Given the description of an element on the screen output the (x, y) to click on. 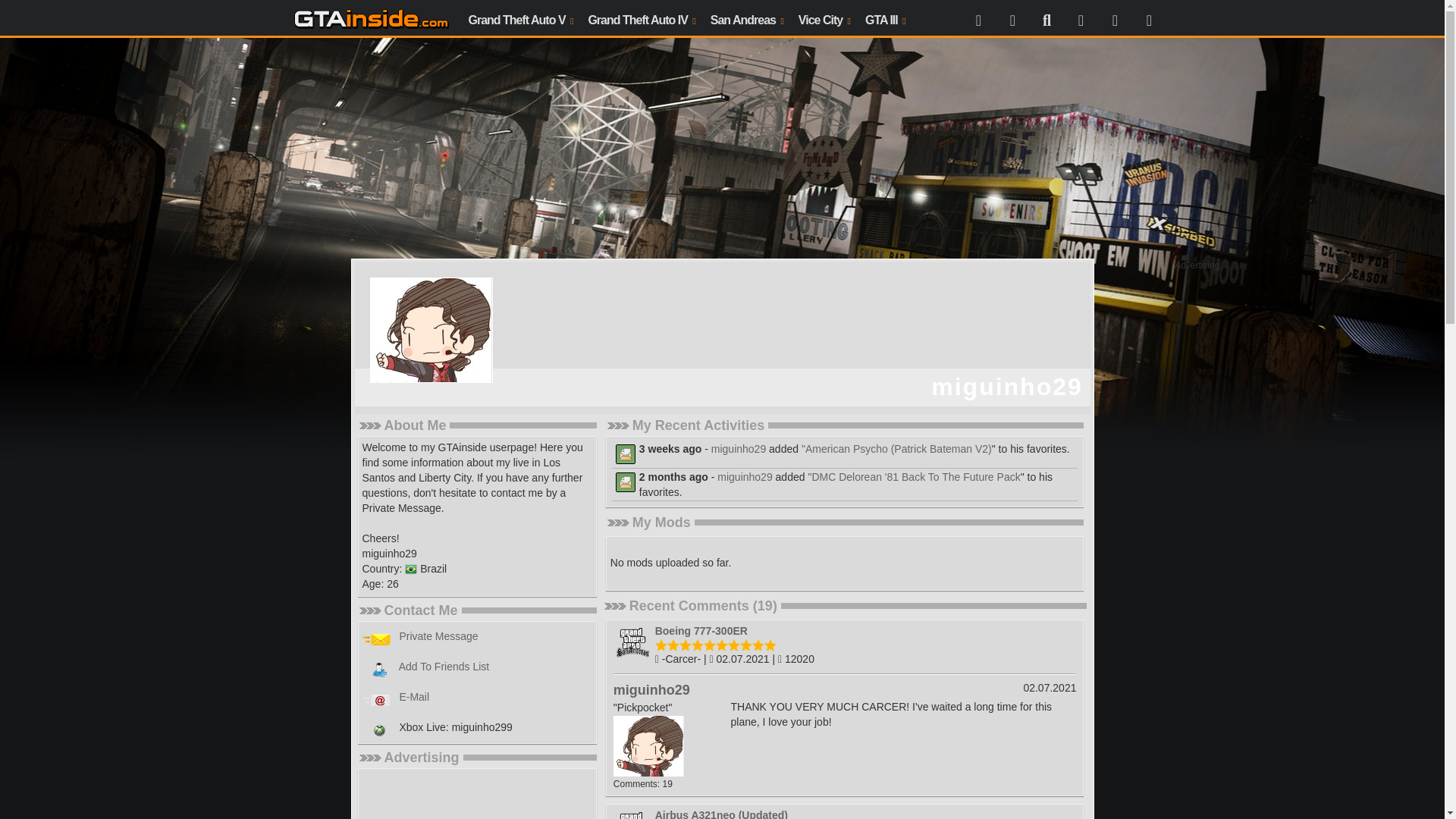
Grand Theft Auto V (520, 18)
Search (1046, 18)
Upload your mod (1079, 18)
Grand Theft Auto IV (640, 18)
Your Profile (1011, 18)
Messages (1114, 18)
Menu (977, 18)
Notifications (1148, 18)
Advertisement (476, 796)
